Given the description of an element on the screen output the (x, y) to click on. 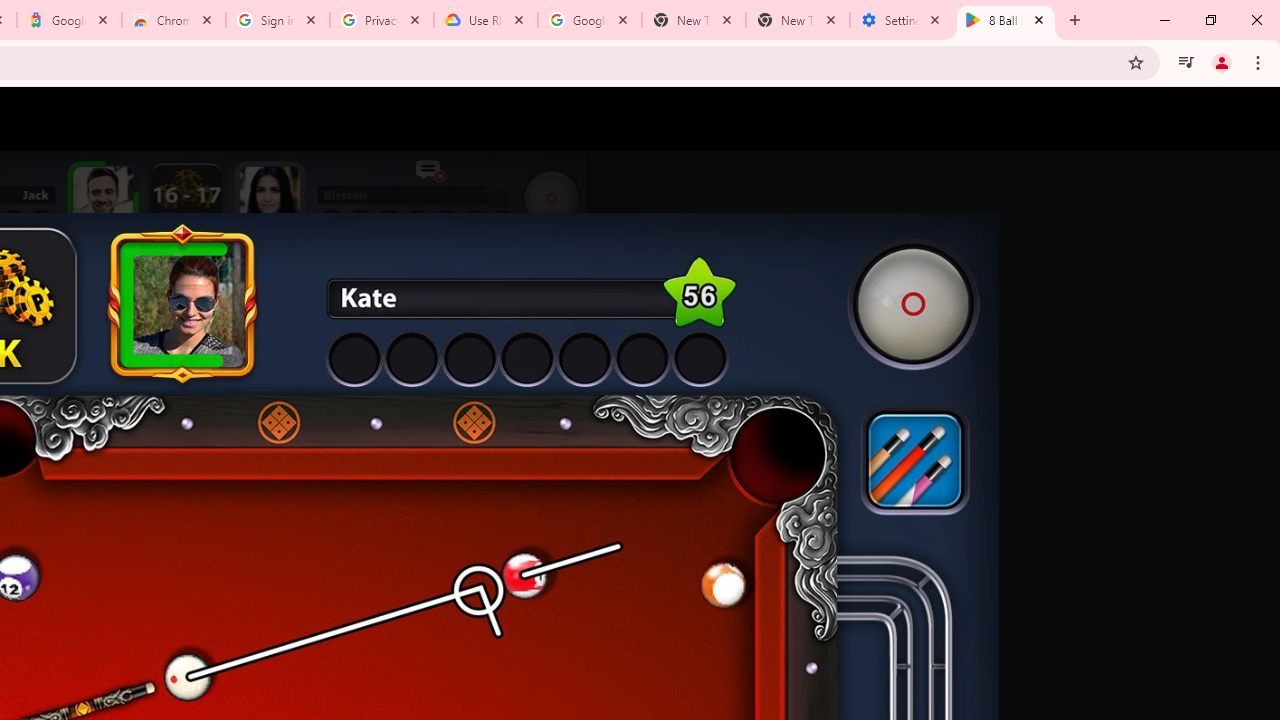
Google (68, 20)
Open account menu (1245, 119)
